Given the description of an element on the screen output the (x, y) to click on. 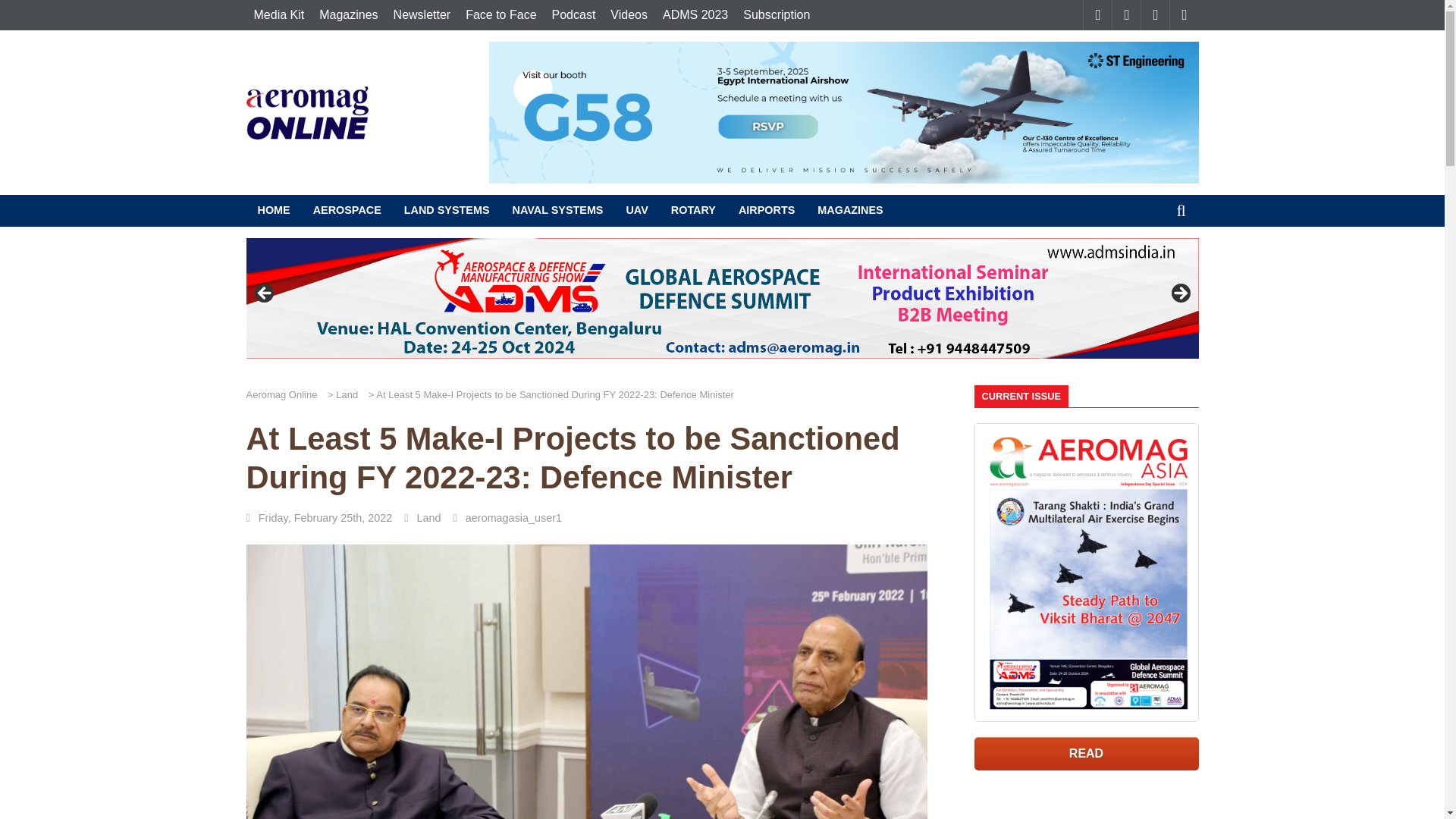
Magazines (348, 15)
Aeromag Online (307, 112)
Go to Aeromag Online. (285, 394)
Land (350, 394)
GO (1180, 210)
HOME (273, 210)
Previous (264, 293)
NAVAL SYSTEMS (557, 210)
Podcast (574, 15)
ADMS 2023 (695, 15)
